Given the description of an element on the screen output the (x, y) to click on. 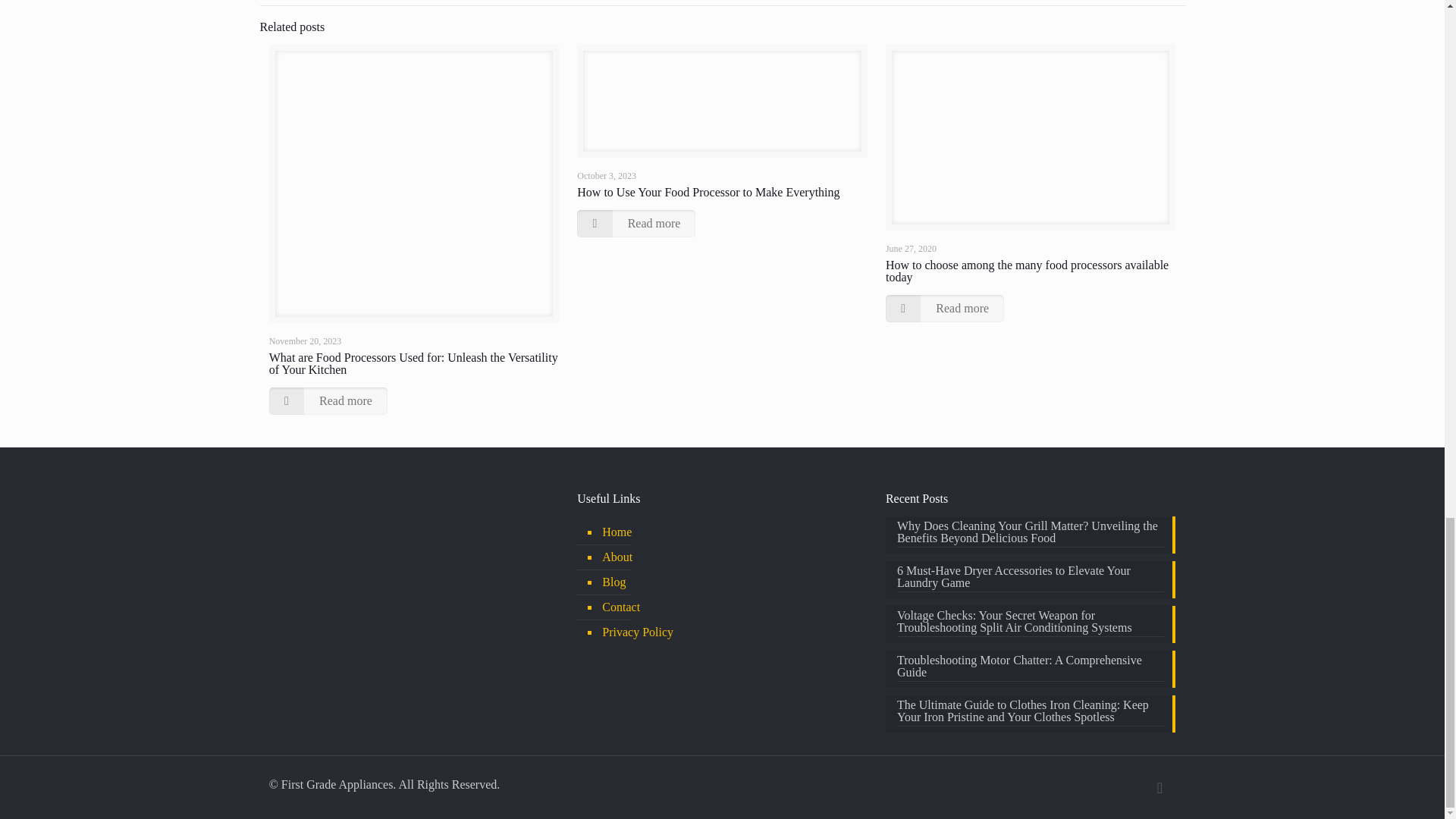
How to Use Your Food Processor to Make Everything (708, 192)
Read more (328, 400)
Read more (635, 223)
